Given the description of an element on the screen output the (x, y) to click on. 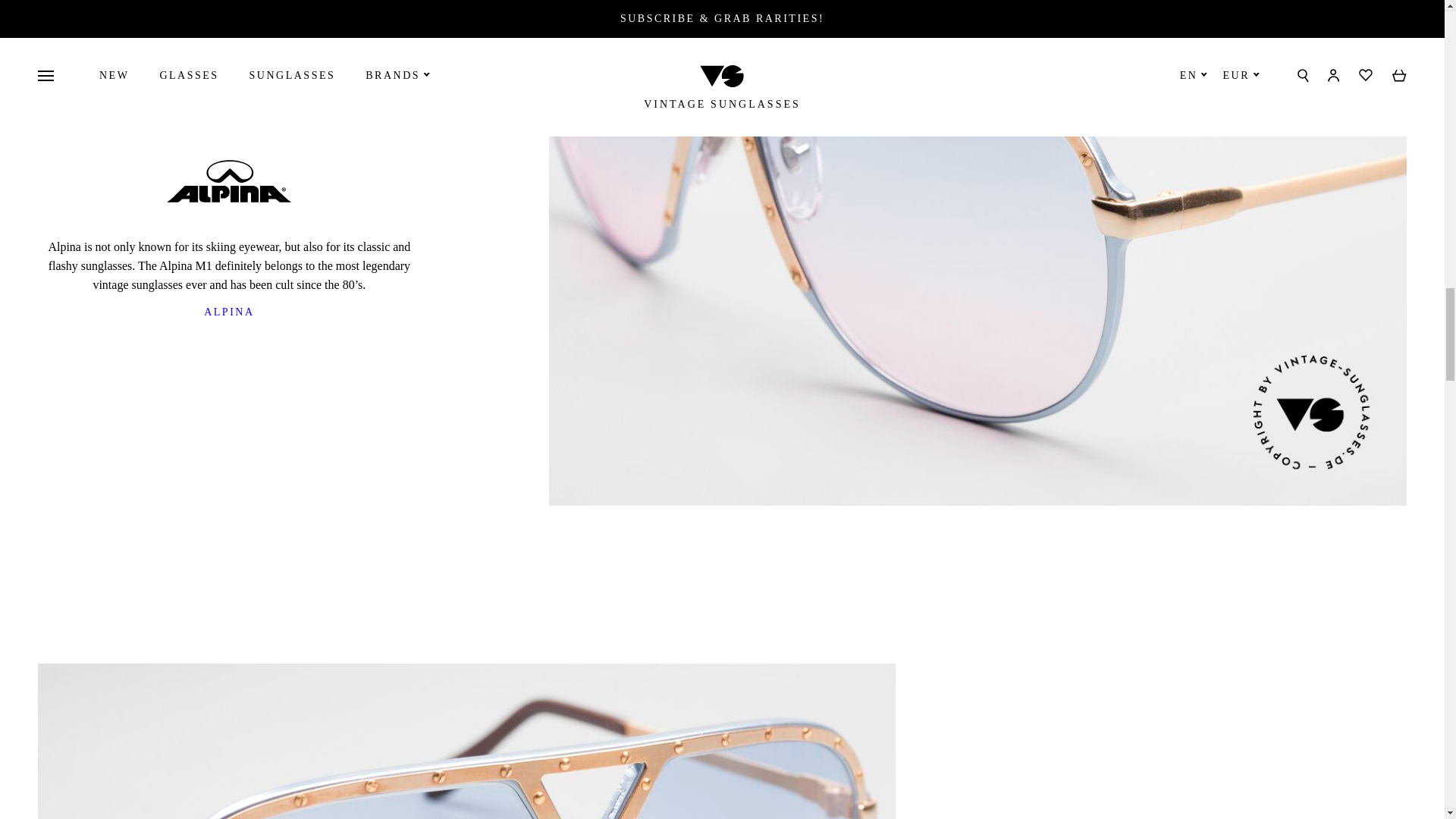
ALPINA (228, 311)
